Given the description of an element on the screen output the (x, y) to click on. 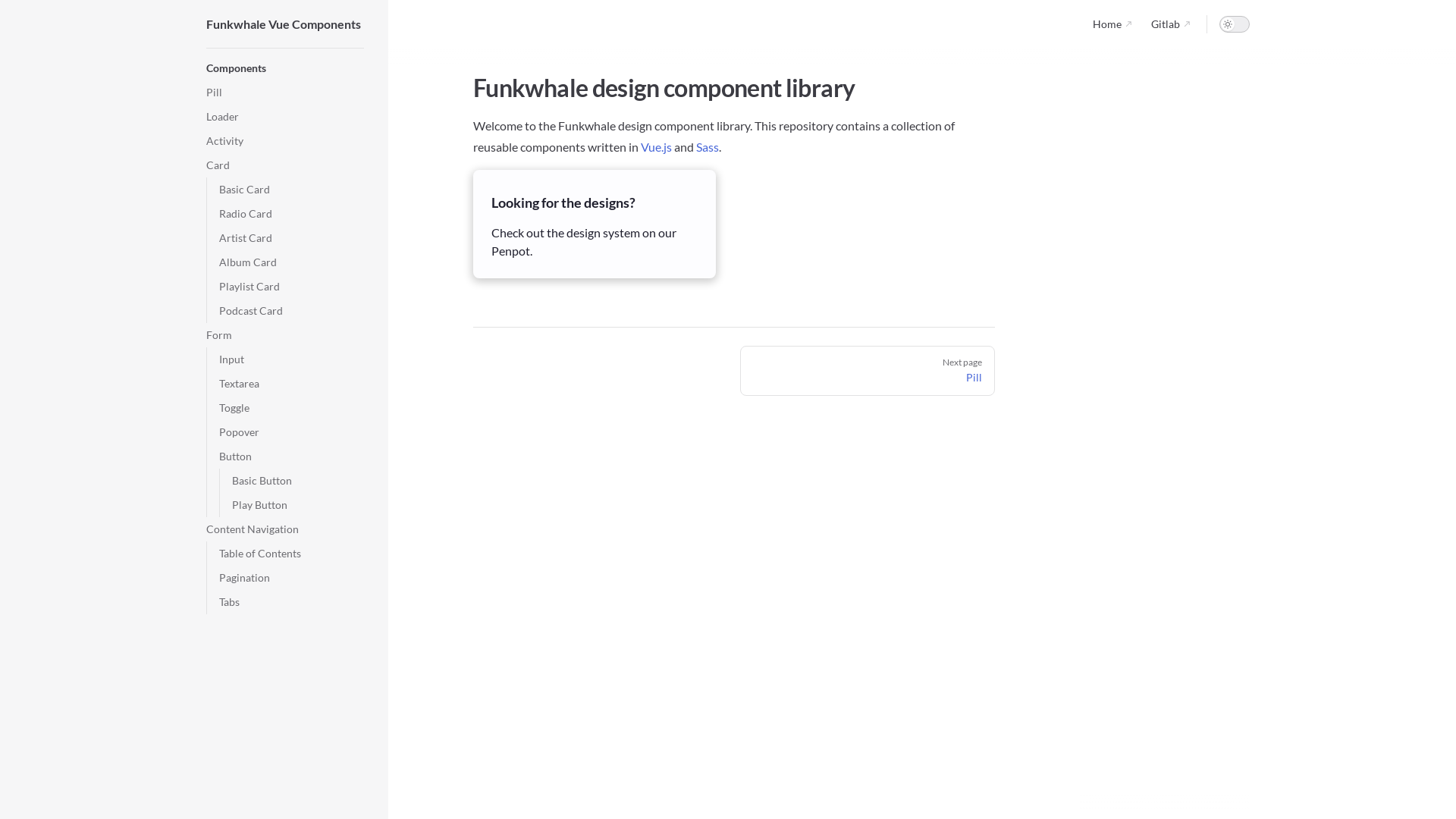
Album Card Element type: text (291, 262)
Next page
Pill Element type: text (867, 370)
Toggle Element type: text (291, 407)
Artist Card Element type: text (291, 237)
Textarea Element type: text (291, 383)
Pill Element type: text (285, 92)
Input Element type: text (291, 359)
Playlist Card Element type: text (291, 286)
Loader Element type: text (285, 116)
Gitlab Element type: text (1171, 24)
Podcast Card Element type: text (291, 310)
Funkwhale Vue Components Element type: text (285, 24)
Activity Element type: text (285, 140)
Skip to content Element type: text (24, 16)
Table of Contents Element type: text (291, 553)
Sass Element type: text (707, 146)
Popover Element type: text (291, 432)
Basic Card Element type: text (291, 189)
Play Button Element type: text (298, 504)
Vue.js Element type: text (655, 146)
Basic Button Element type: text (298, 480)
Home Element type: text (1112, 24)
Tabs Element type: text (291, 601)
Radio Card Element type: text (291, 213)
toggle dark mode Element type: hover (1234, 23)
Pagination Element type: text (291, 577)
